Given the description of an element on the screen output the (x, y) to click on. 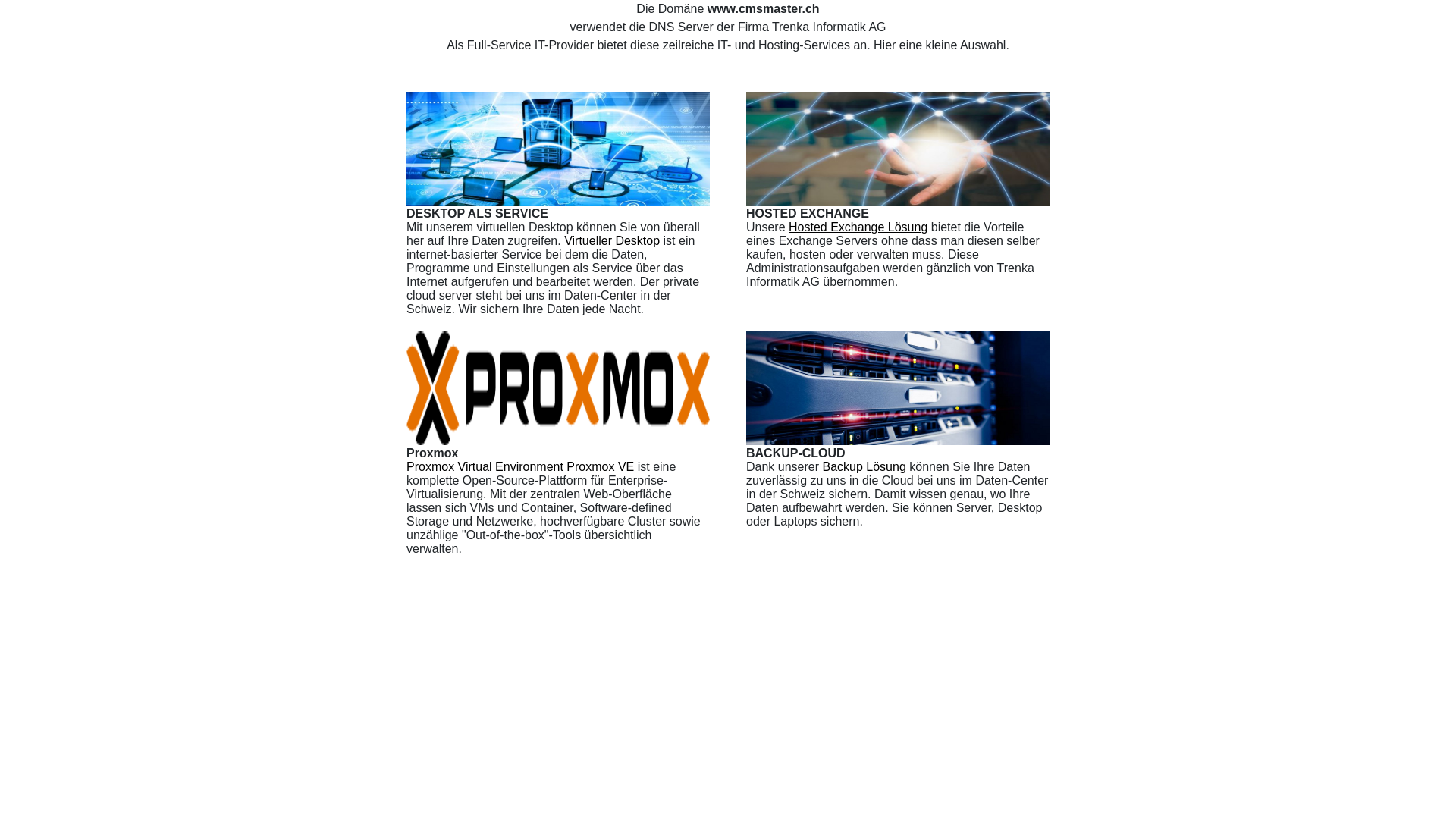
Proxmox Virtual Environment Proxmox VE Element type: text (519, 466)
Virtueller Desktop Element type: text (611, 240)
Advertisement Element type: hover (455, 699)
